Given the description of an element on the screen output the (x, y) to click on. 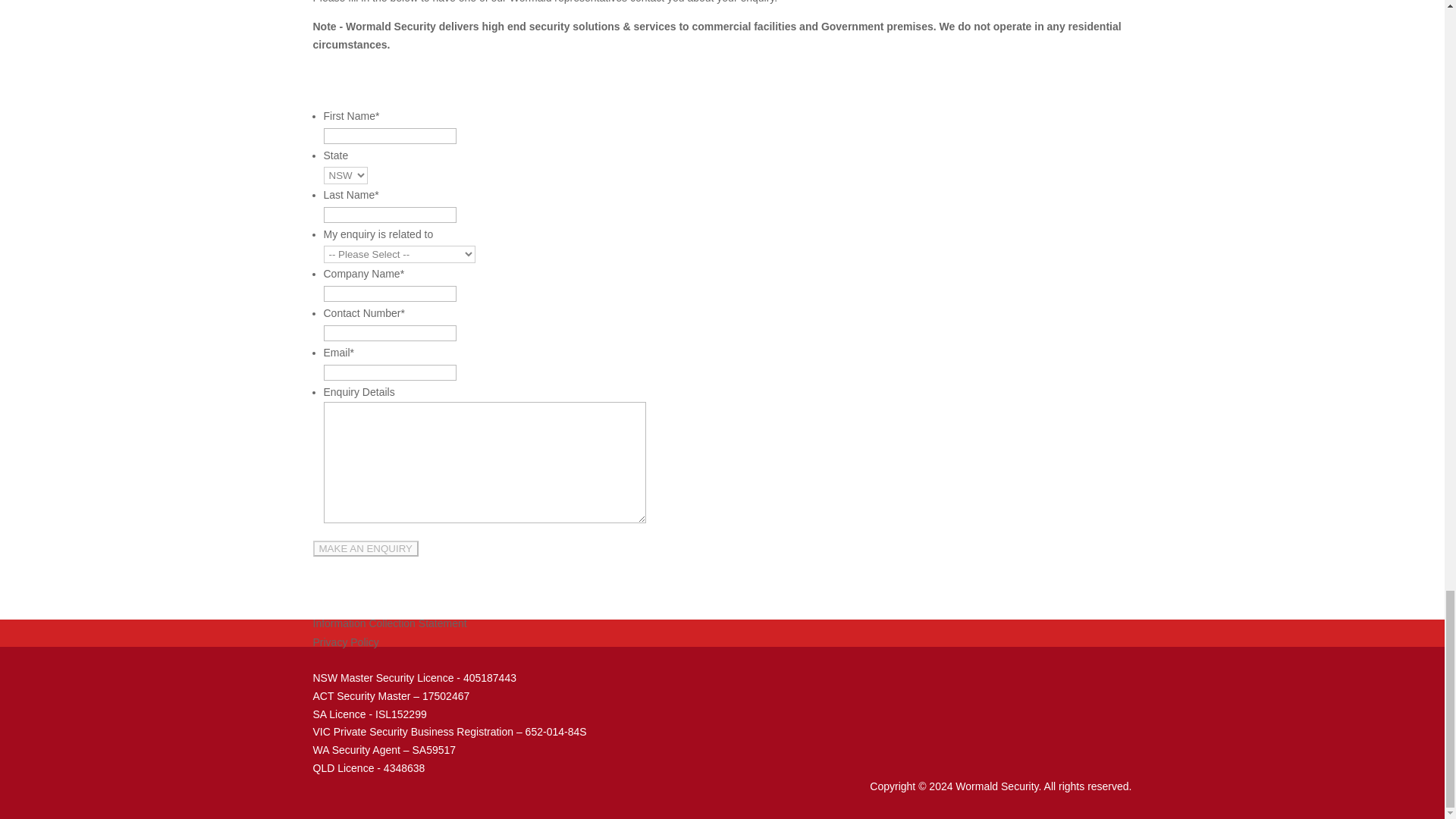
MAKE AN ENQUIRY (365, 548)
Information Collection Statement (389, 623)
MAKE AN ENQUIRY (365, 548)
Privacy Policy (345, 642)
